Given the description of an element on the screen output the (x, y) to click on. 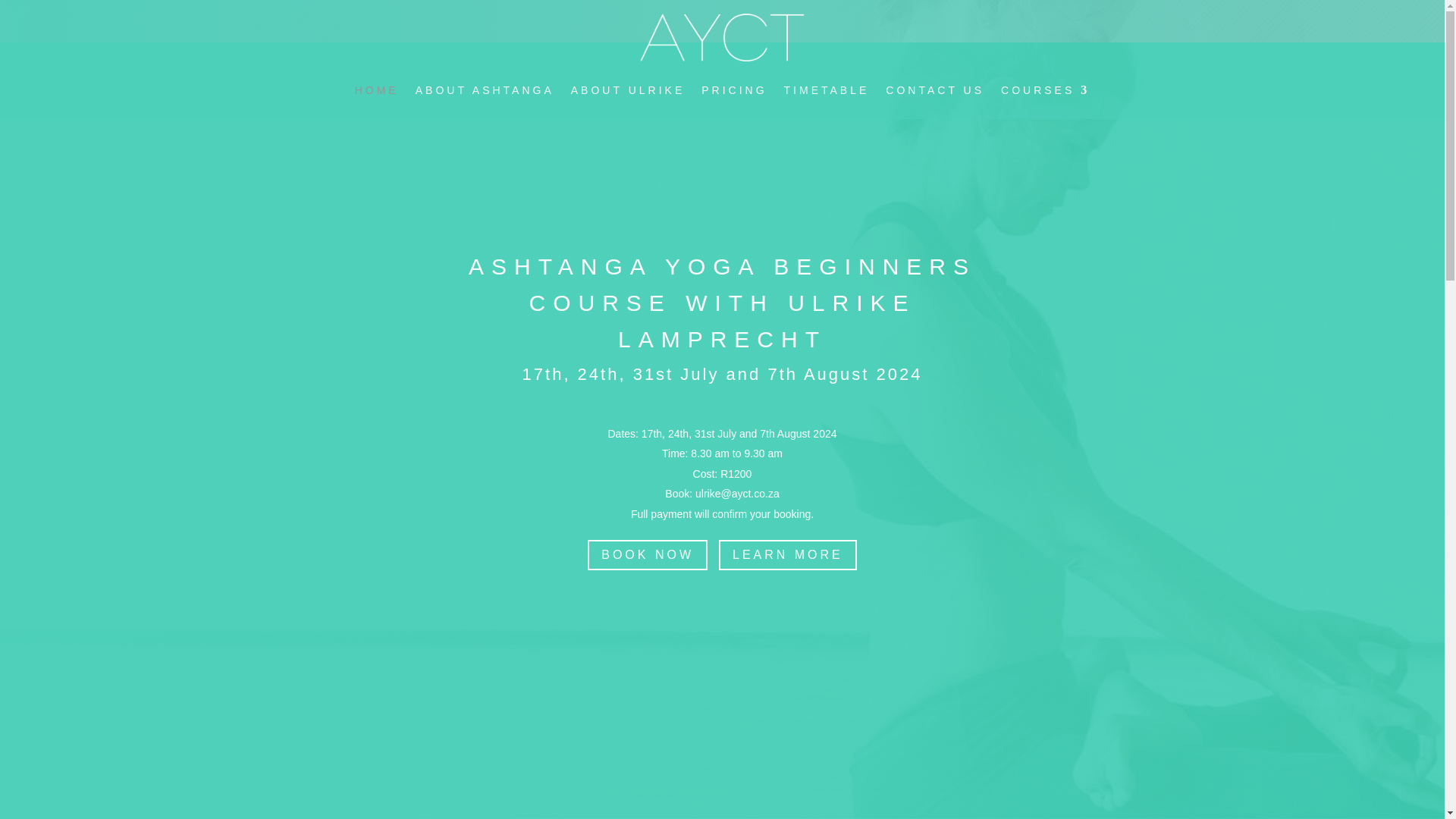
CONTACT US (934, 89)
TIMETABLE (826, 89)
ABOUT ASHTANGA (484, 89)
PRICING (734, 89)
ABOUT ULRIKE (627, 89)
BOOK NOW (647, 554)
COURSES (1045, 89)
LEARN MORE (788, 554)
